Given the description of an element on the screen output the (x, y) to click on. 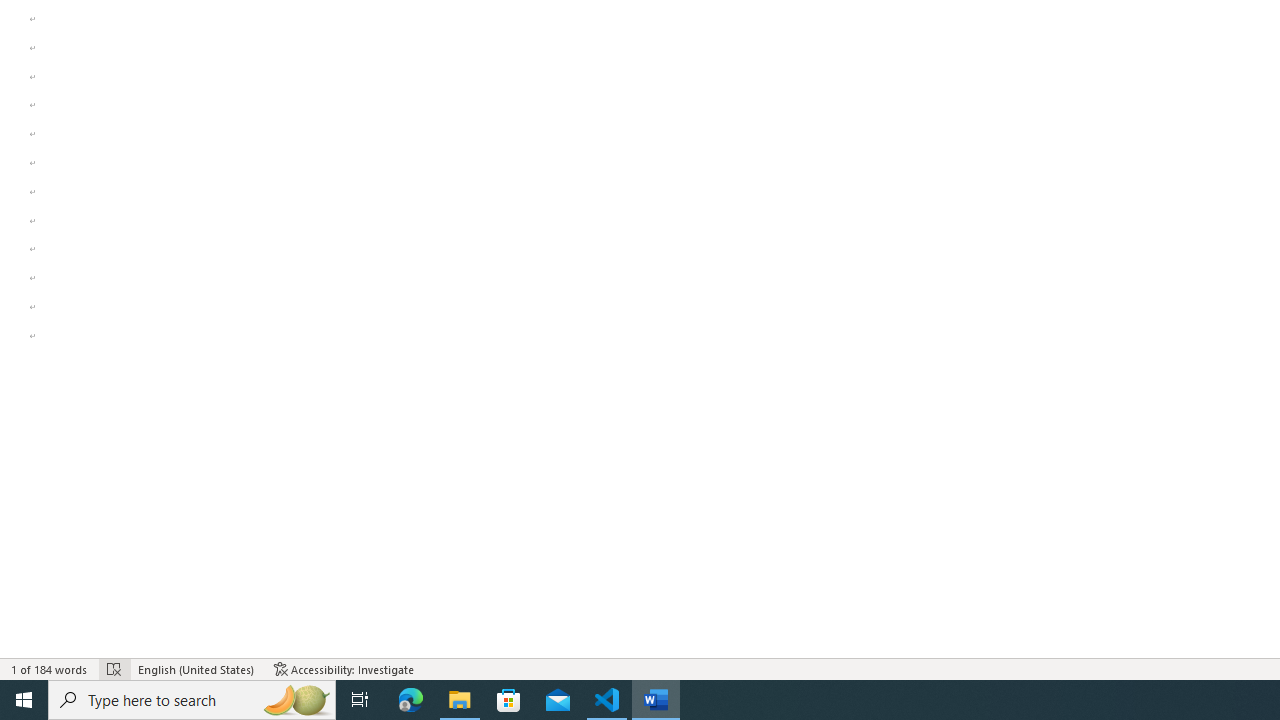
Spelling and Grammar Check Errors (114, 668)
Word Count 1 of 184 words (49, 668)
